Given the description of an element on the screen output the (x, y) to click on. 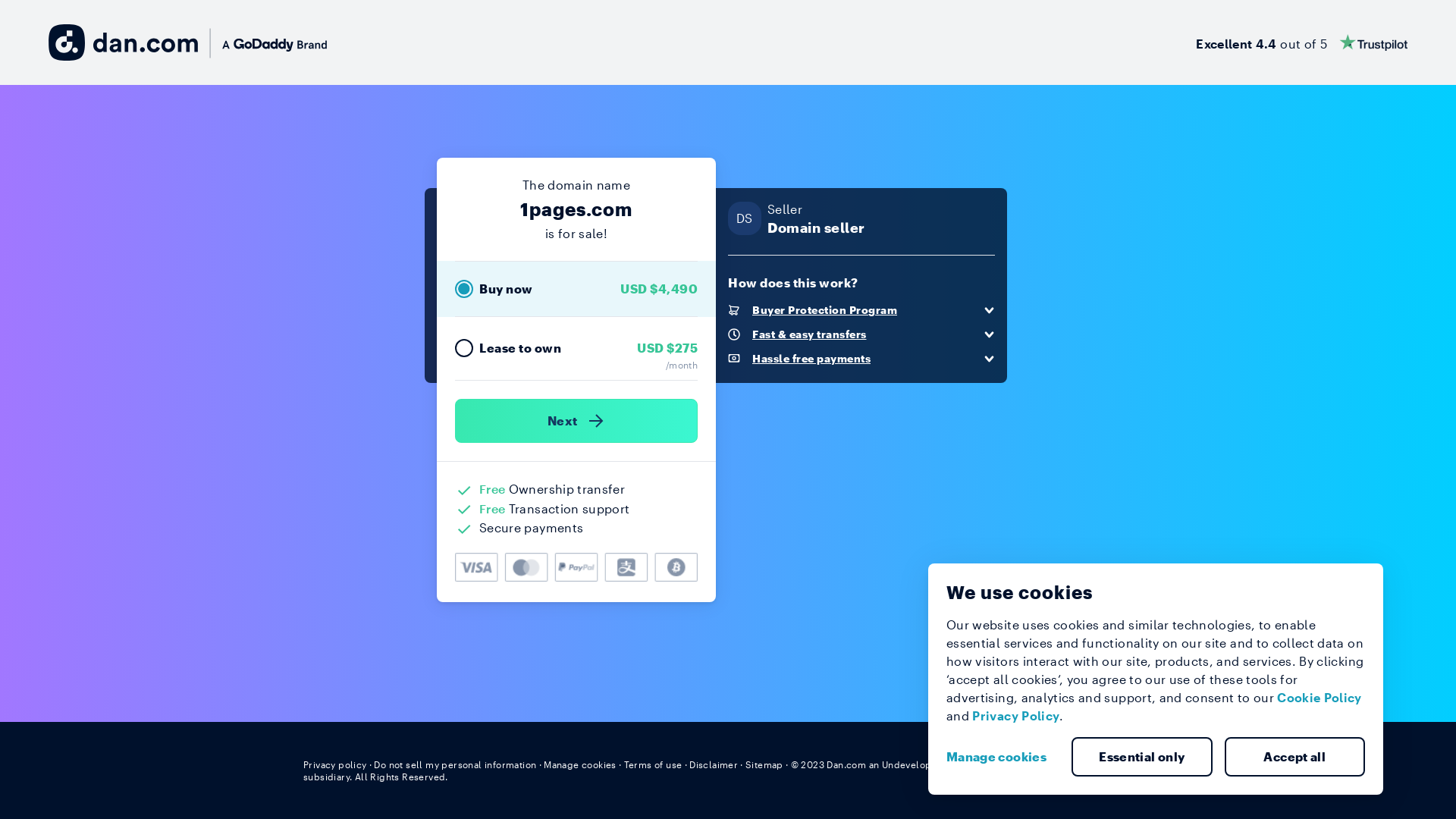
Privacy Policy Element type: text (1015, 715)
Do not sell my personal information Element type: text (454, 764)
Manage cookies Element type: text (579, 764)
Next
) Element type: text (576, 420)
Excellent 4.4 out of 5 Element type: text (1301, 42)
Sitemap Element type: text (764, 764)
Privacy policy Element type: text (335, 764)
Manage cookies Element type: text (1002, 756)
Disclaimer Element type: text (713, 764)
English Element type: text (1124, 764)
Cookie Policy Element type: text (1319, 697)
Accept all Element type: text (1294, 756)
Terms of use Element type: text (653, 764)
Essential only Element type: text (1141, 756)
